Given the description of an element on the screen output the (x, y) to click on. 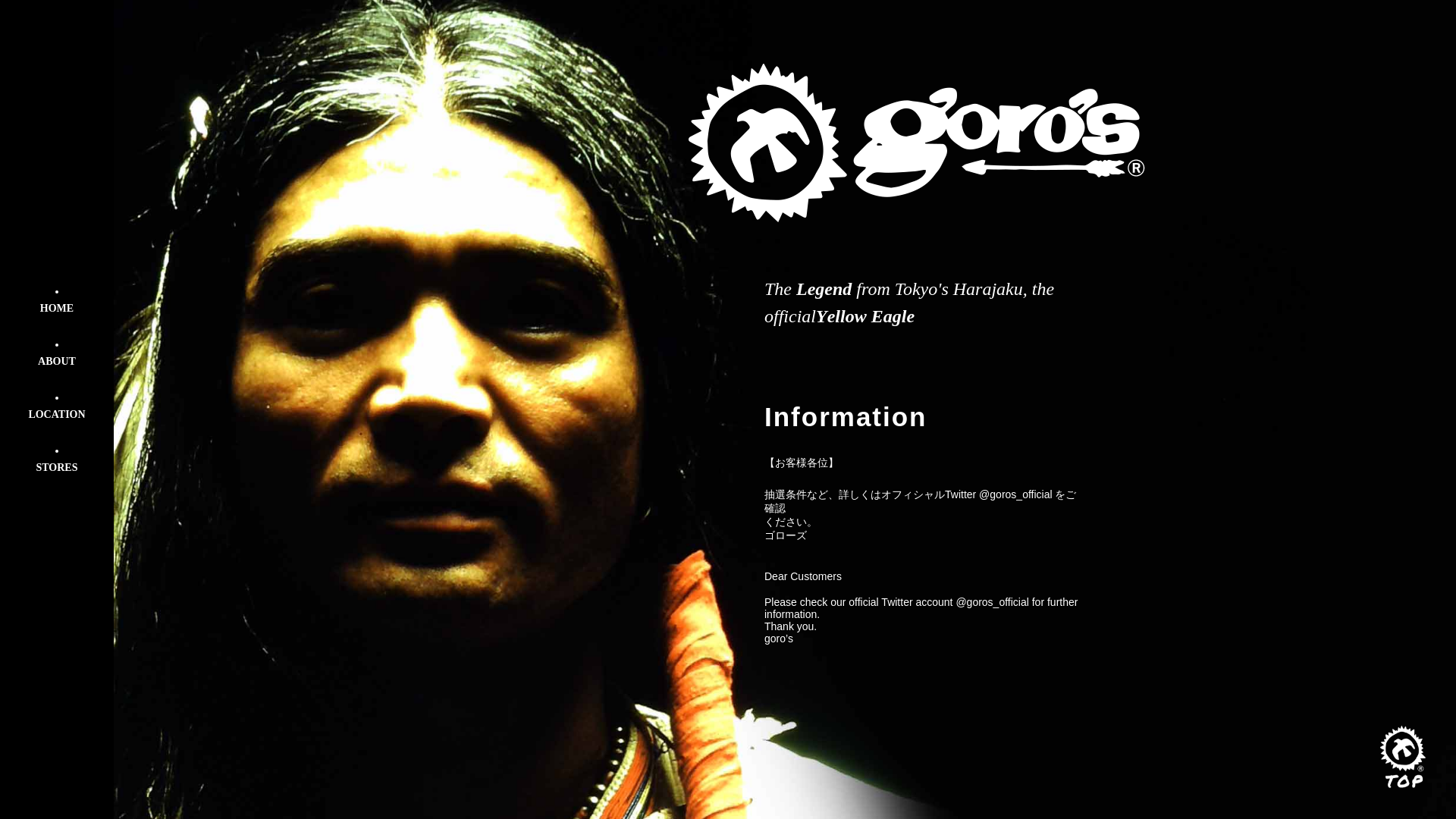
LOCATION (56, 420)
HOME (56, 314)
STORES (56, 473)
ABOUT (56, 367)
